Given the description of an element on the screen output the (x, y) to click on. 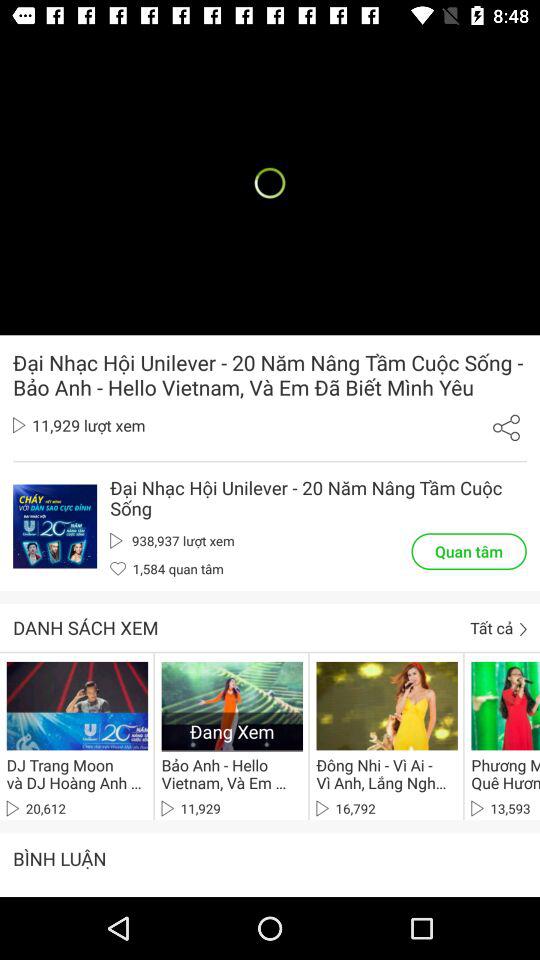
choose icon above 20,612 item (73, 774)
